Given the description of an element on the screen output the (x, y) to click on. 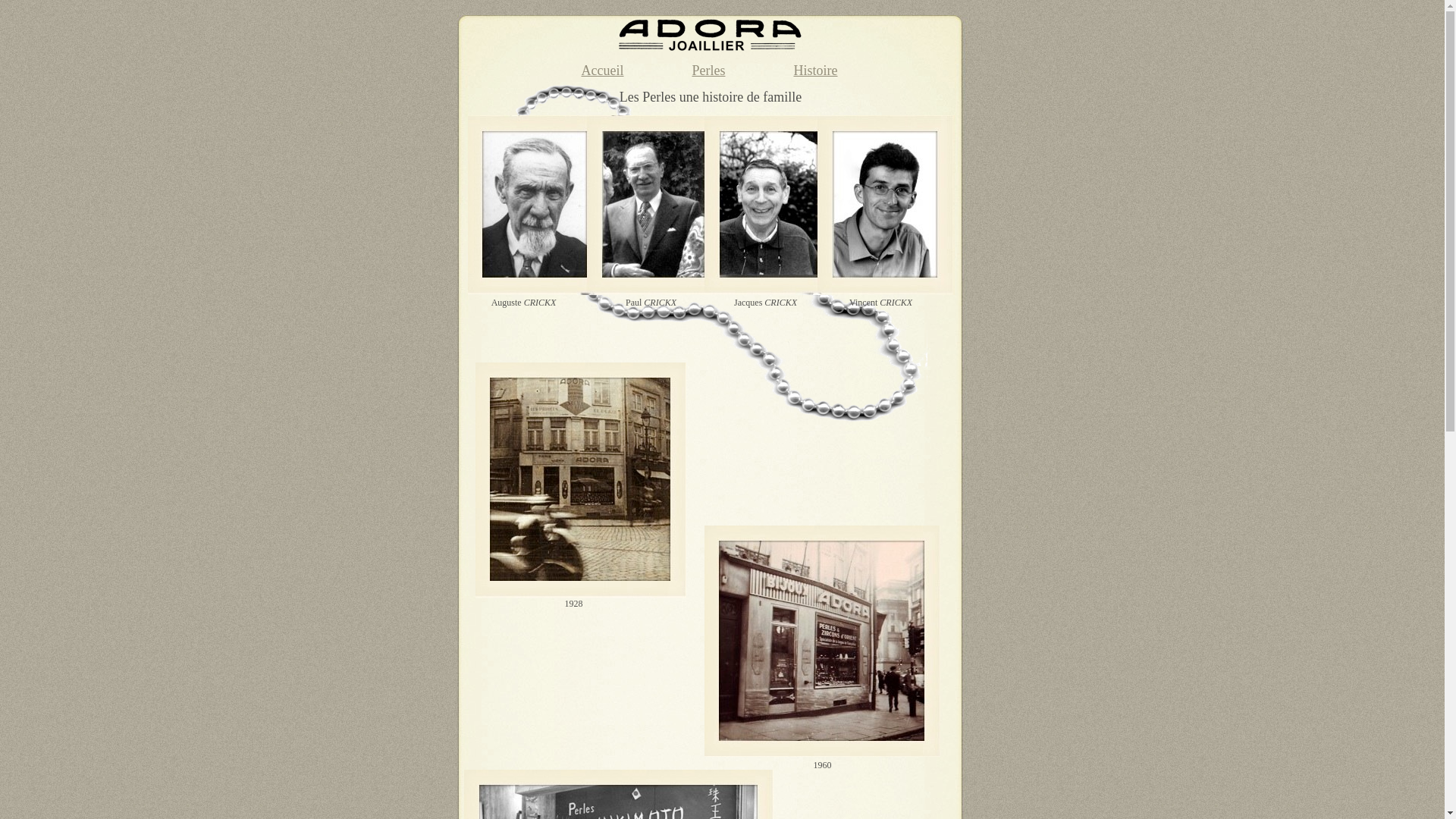
Accueil Element type: text (602, 70)
Histoire Element type: text (815, 70)
Perles Element type: text (707, 70)
Adora.html Element type: hover (709, 48)
